Given the description of an element on the screen output the (x, y) to click on. 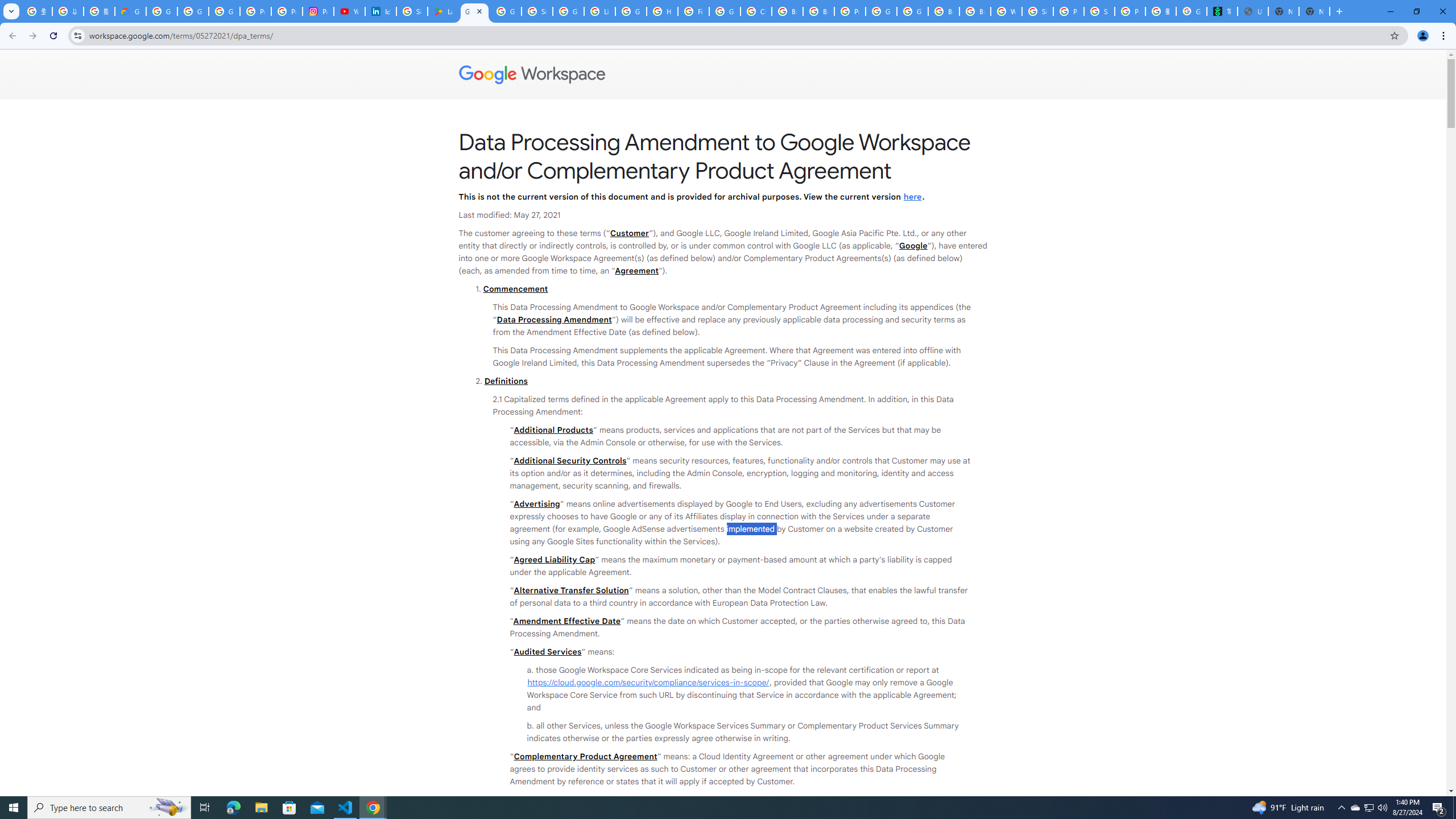
Sign in - Google Accounts (1037, 11)
Untitled (1252, 11)
here (912, 196)
New Tab (1314, 11)
Browse Chrome as a guest - Computer - Google Chrome Help (943, 11)
Sign in - Google Accounts (536, 11)
